Given the description of an element on the screen output the (x, y) to click on. 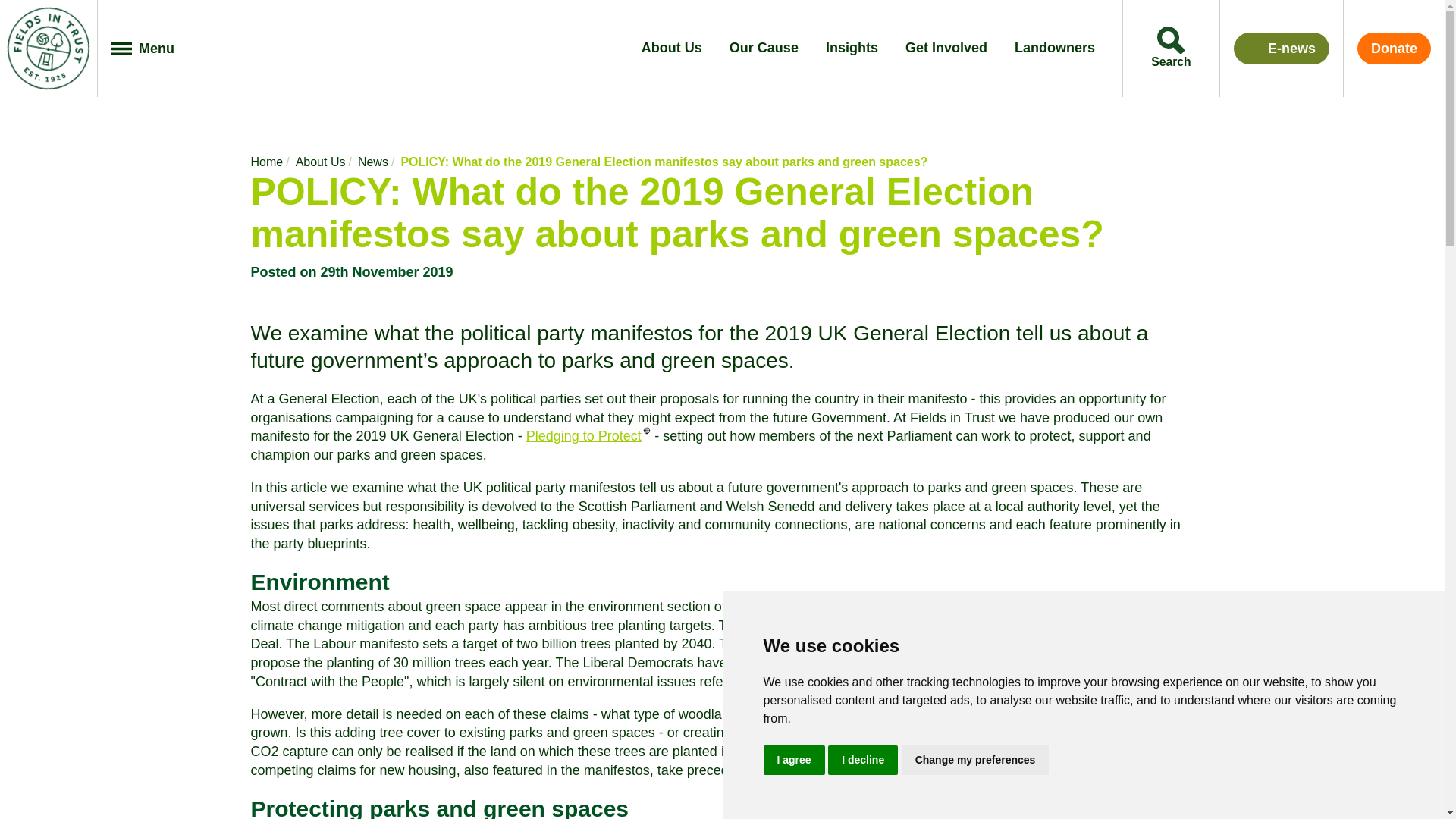
Get Involved (946, 49)
Insights (851, 49)
About Us (671, 49)
I agree (793, 758)
Donate (1393, 48)
Search (1171, 48)
E-news (1281, 48)
Landowners (1054, 49)
I decline (863, 758)
Menu (143, 48)
Our Cause (763, 49)
Change my preferences (975, 758)
